Given the description of an element on the screen output the (x, y) to click on. 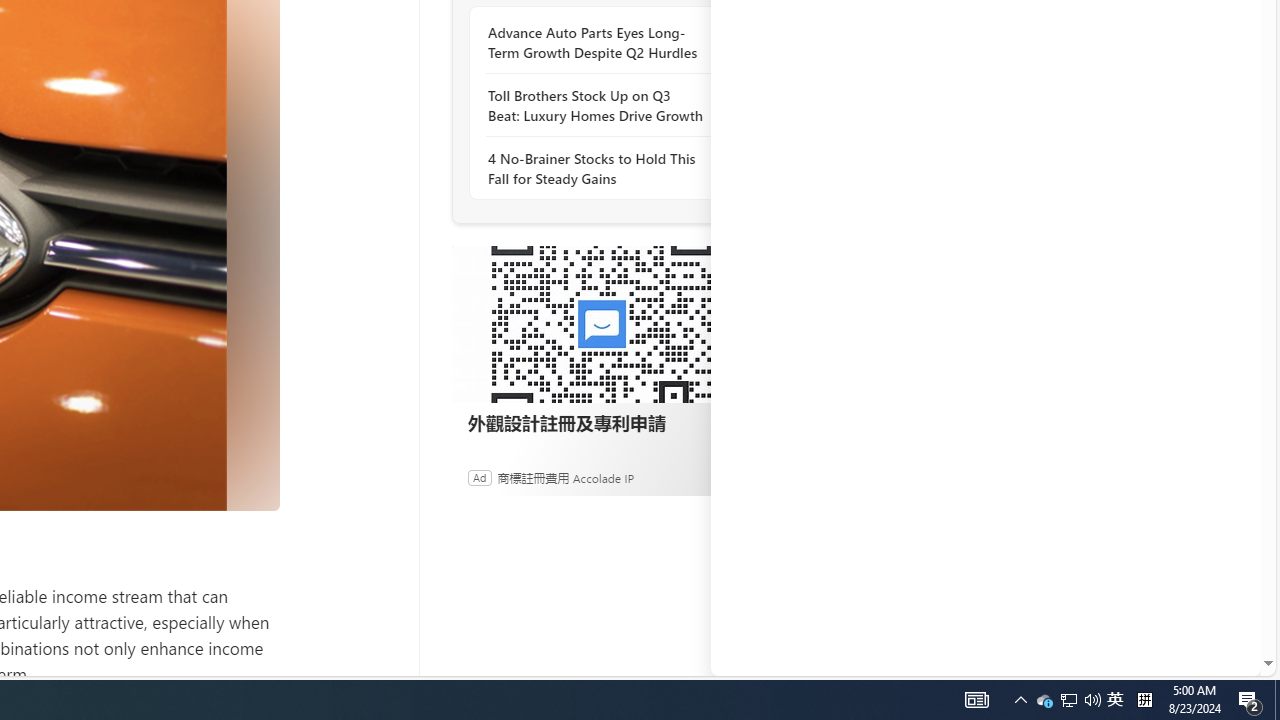
Ad Choice (729, 477)
Advance Auto Parts Eyes Long-Term Growth Despite Q2 Hurdles (596, 43)
4 No-Brainer Stocks to Hold This Fall for Steady Gains (596, 168)
Toll Brothers Stock Up on Q3 Beat: Luxury Homes Drive Growth (596, 105)
